Given the description of an element on the screen output the (x, y) to click on. 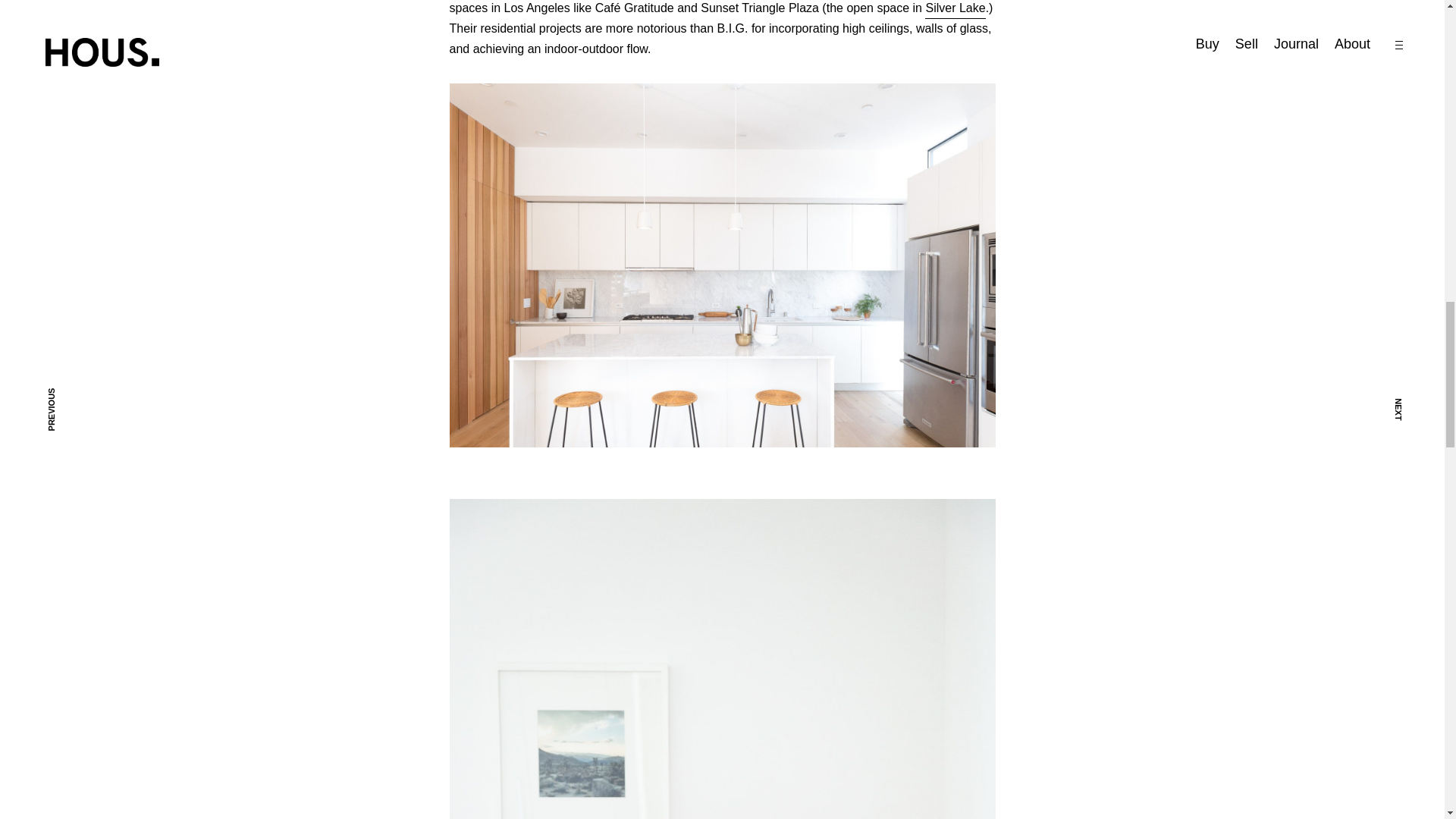
Silver Lake (954, 9)
